Given the description of an element on the screen output the (x, y) to click on. 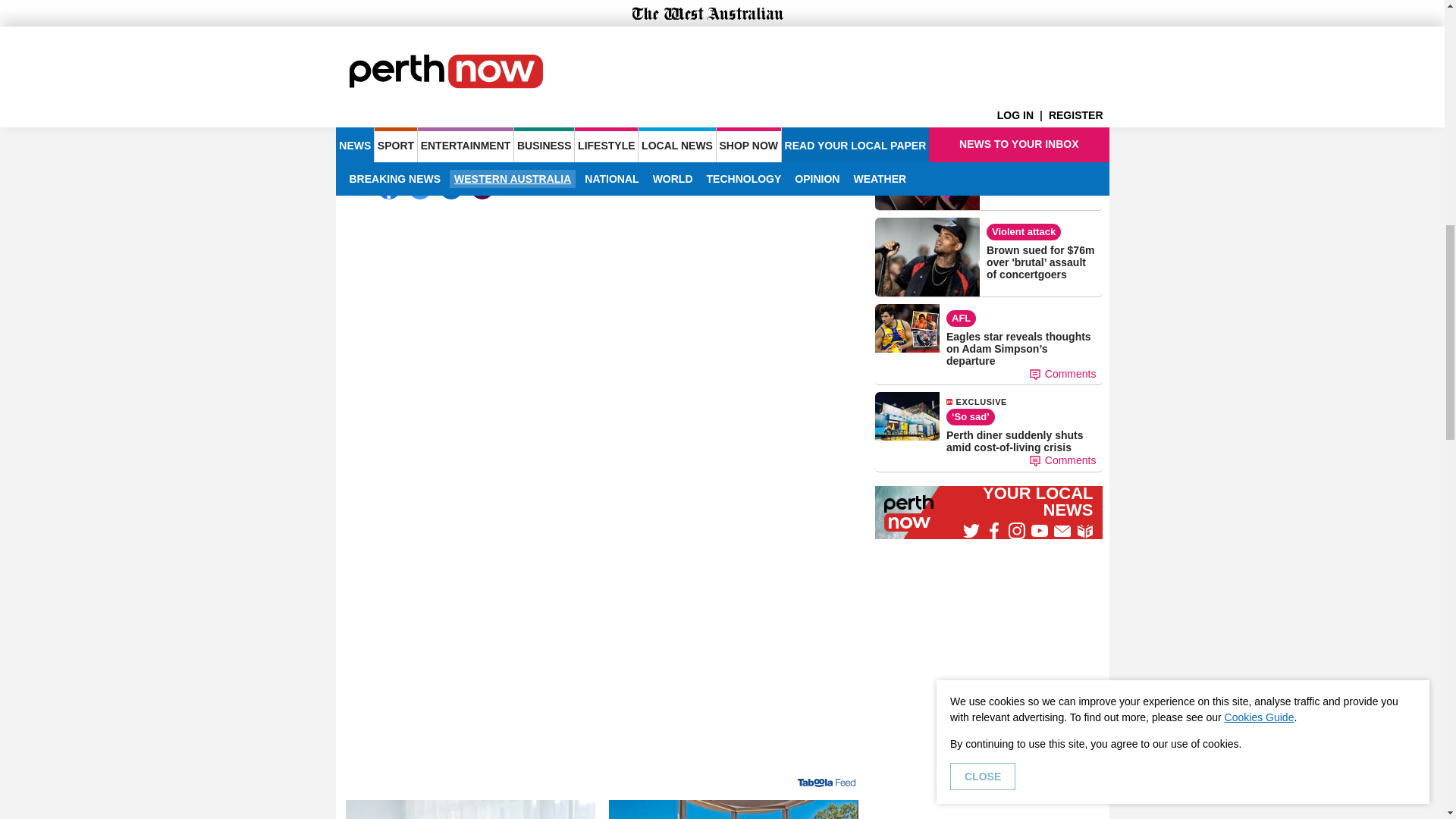
Unsold Luxury Hotel Reservations 2023 (733, 809)
Fertility Clinics Might Be Better Than You Think (470, 809)
